Given the description of an element on the screen output the (x, y) to click on. 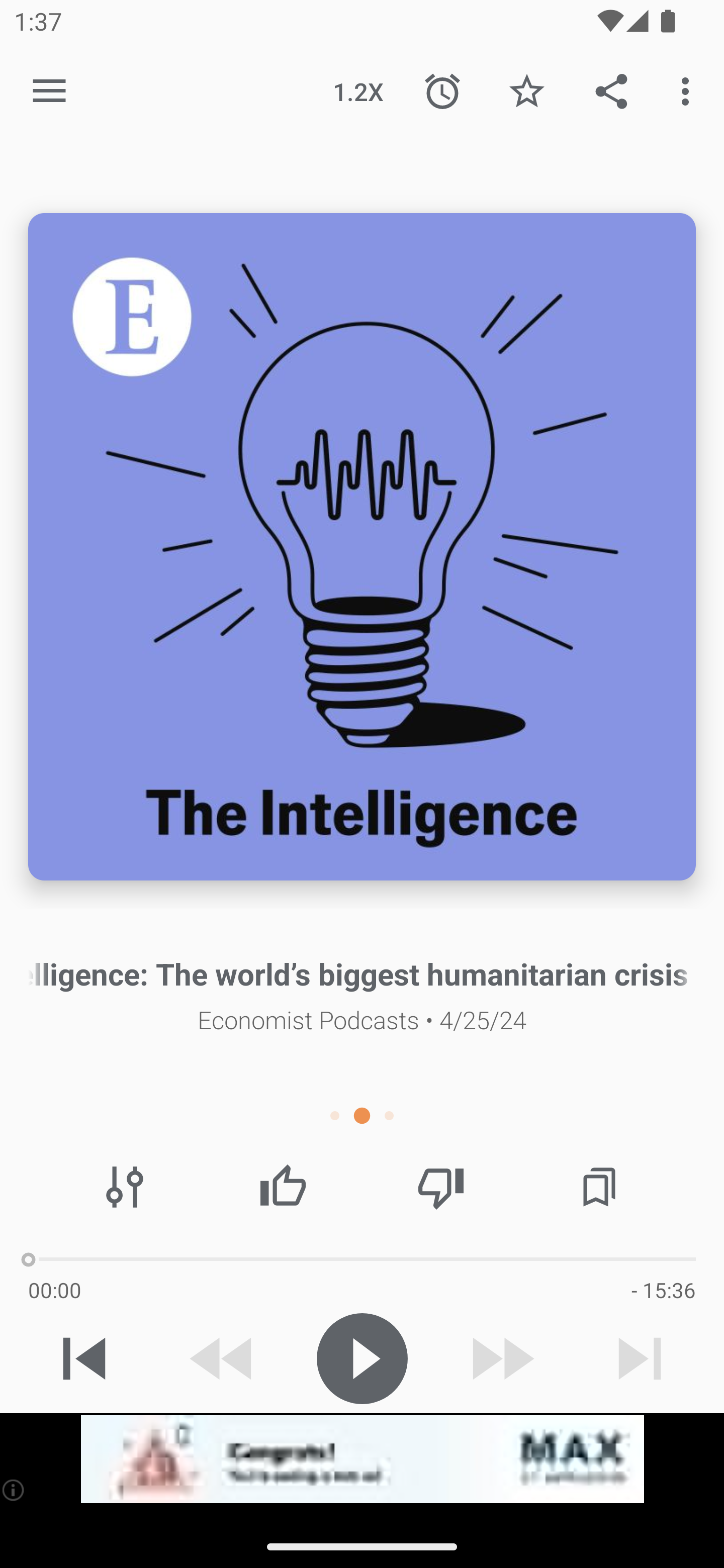
Open navigation sidebar (49, 91)
1.2X (357, 90)
Sleep Timer (442, 90)
Favorite (526, 90)
Share (611, 90)
More options (688, 90)
Episode description (361, 547)
Audio effects (124, 1186)
Thumbs up (283, 1186)
Thumbs down (440, 1186)
Chapters / Bookmarks (598, 1186)
- 15:36 (663, 1289)
Previous track (84, 1358)
Skip 15s backward (222, 1358)
Play / Pause (362, 1358)
Skip 30s forward (500, 1358)
Next track (639, 1358)
app-monetization (362, 1459)
(i) (14, 1489)
